Given the description of an element on the screen output the (x, y) to click on. 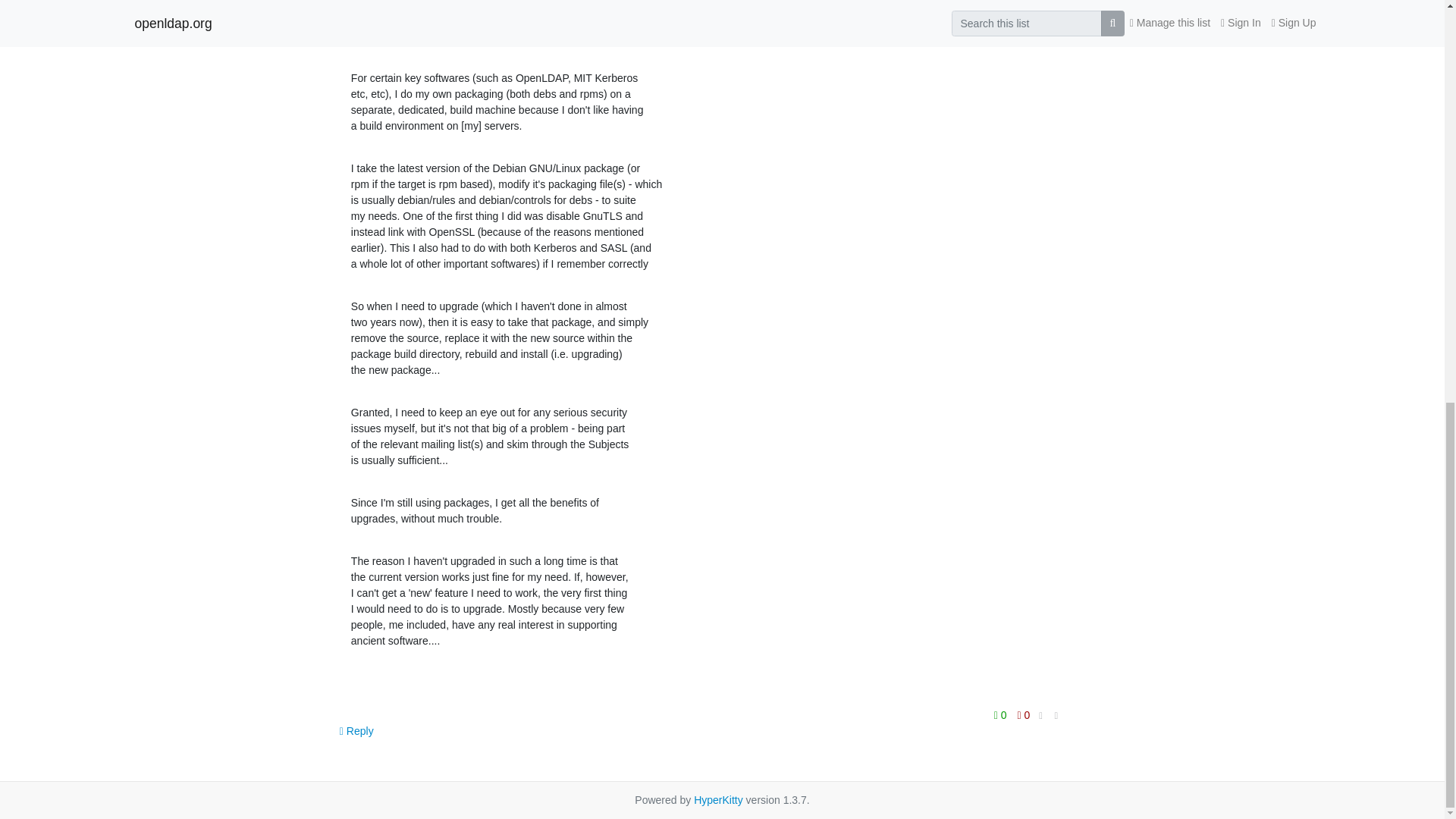
You must be logged-in to vote. (1001, 714)
Sign in to reply online (356, 730)
Permalink for this message (1055, 715)
Display in fixed font (1040, 715)
You must be logged-in to vote. (1023, 714)
